Given the description of an element on the screen output the (x, y) to click on. 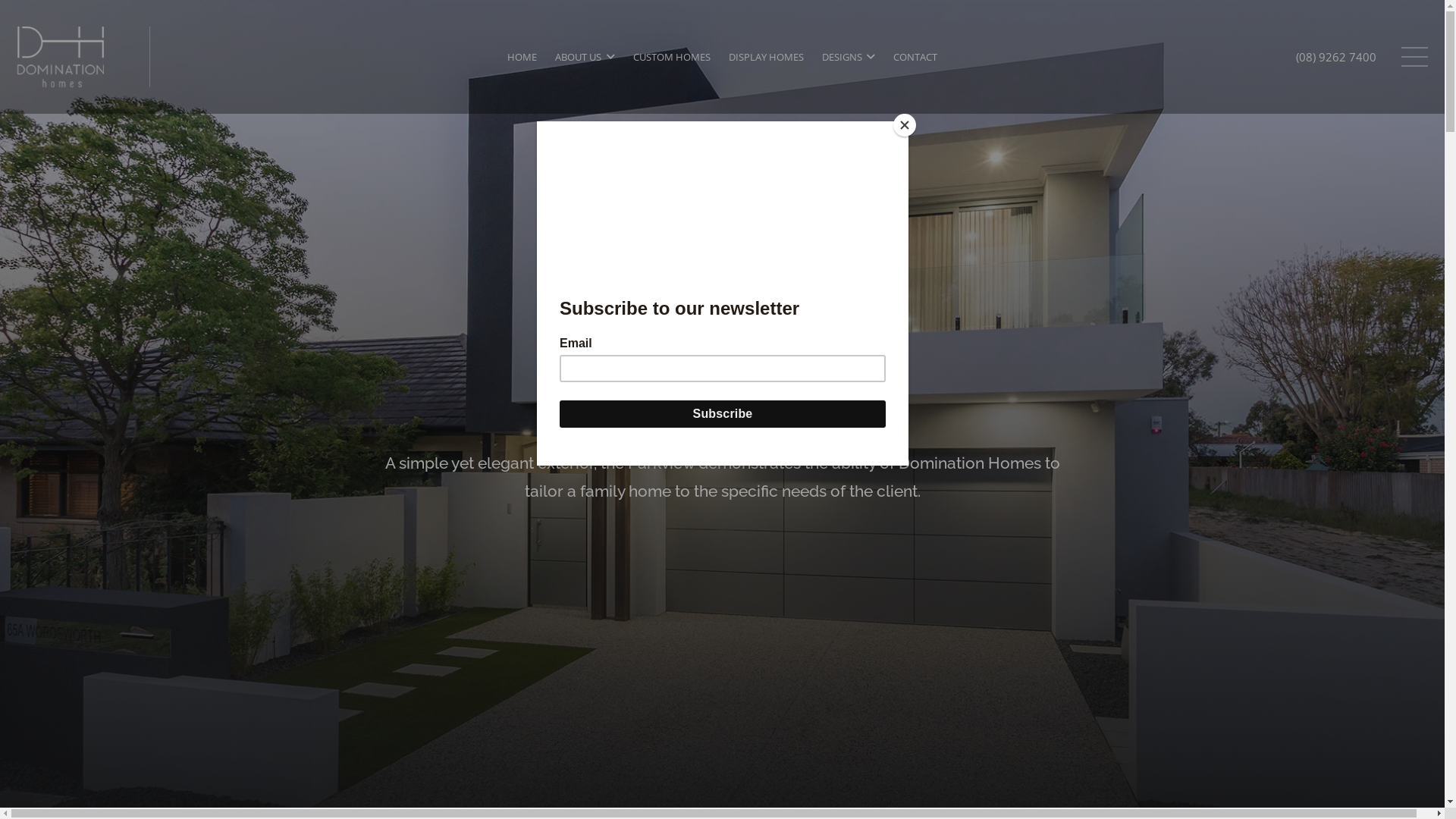
ABOUT US Element type: text (585, 56)
DISPLAY HOMES Element type: text (765, 56)
HOME Element type: text (522, 56)
CUSTOM HOMES Element type: text (670, 56)
DESIGNS Element type: text (848, 56)
CONTACT Element type: text (915, 56)
